Given the description of an element on the screen output the (x, y) to click on. 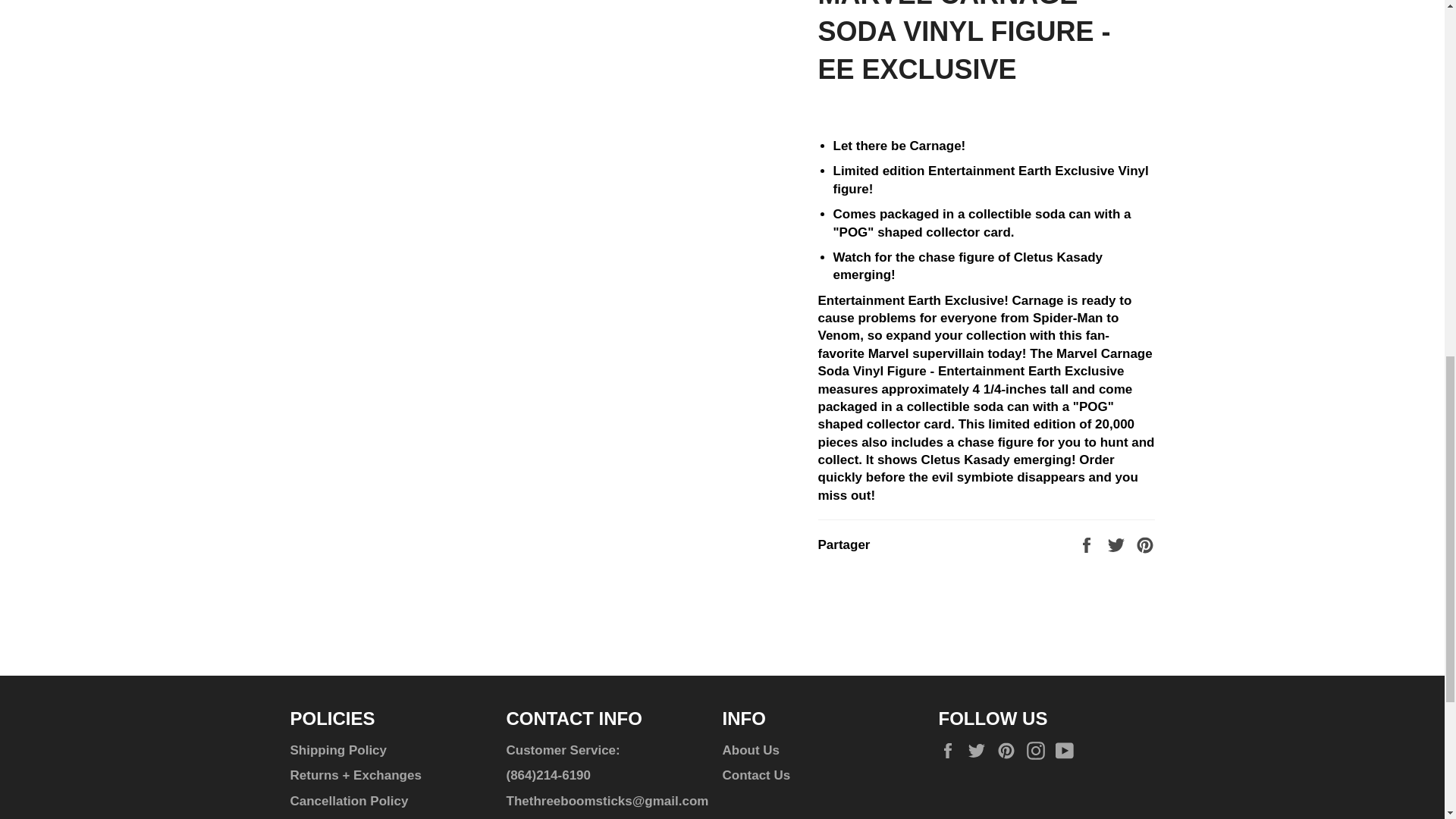
The Three Boomsticks sur Instagram (1039, 751)
The Three Boomsticks sur YouTube (1068, 751)
The Three Boomsticks sur Facebook (951, 751)
Tweeter sur Twitter (1117, 544)
The Three Boomsticks sur Twitter (980, 751)
The Three Boomsticks sur Pinterest (1010, 751)
Partager sur Facebook (1088, 544)
